Given the description of an element on the screen output the (x, y) to click on. 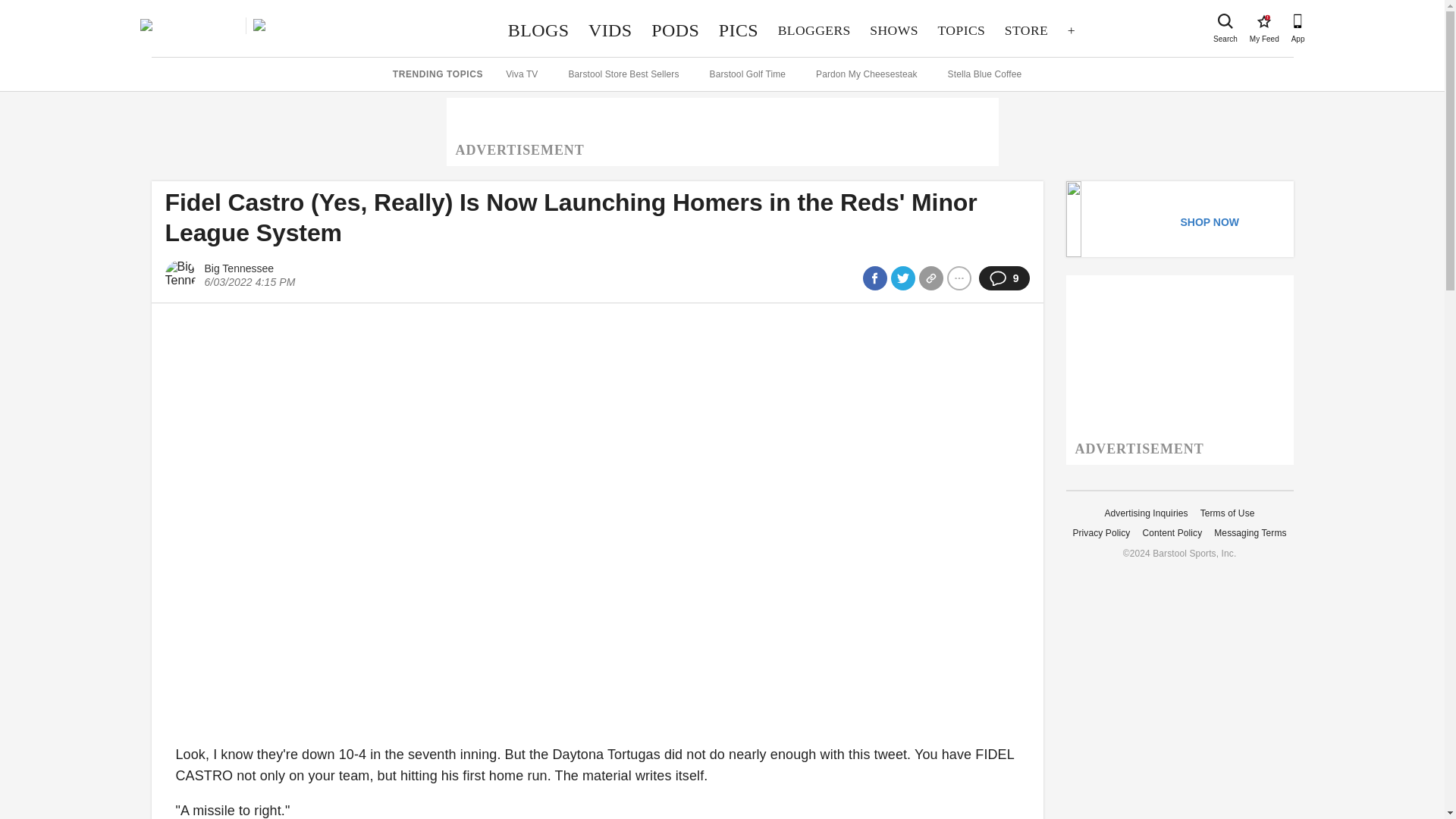
VIDS (610, 30)
SHOWS (894, 30)
BLOGGERS (814, 30)
BLOGS (537, 30)
STORE (1026, 30)
PODS (1263, 20)
PICS (675, 30)
Search (738, 30)
TOPICS (1225, 20)
